Given the description of an element on the screen output the (x, y) to click on. 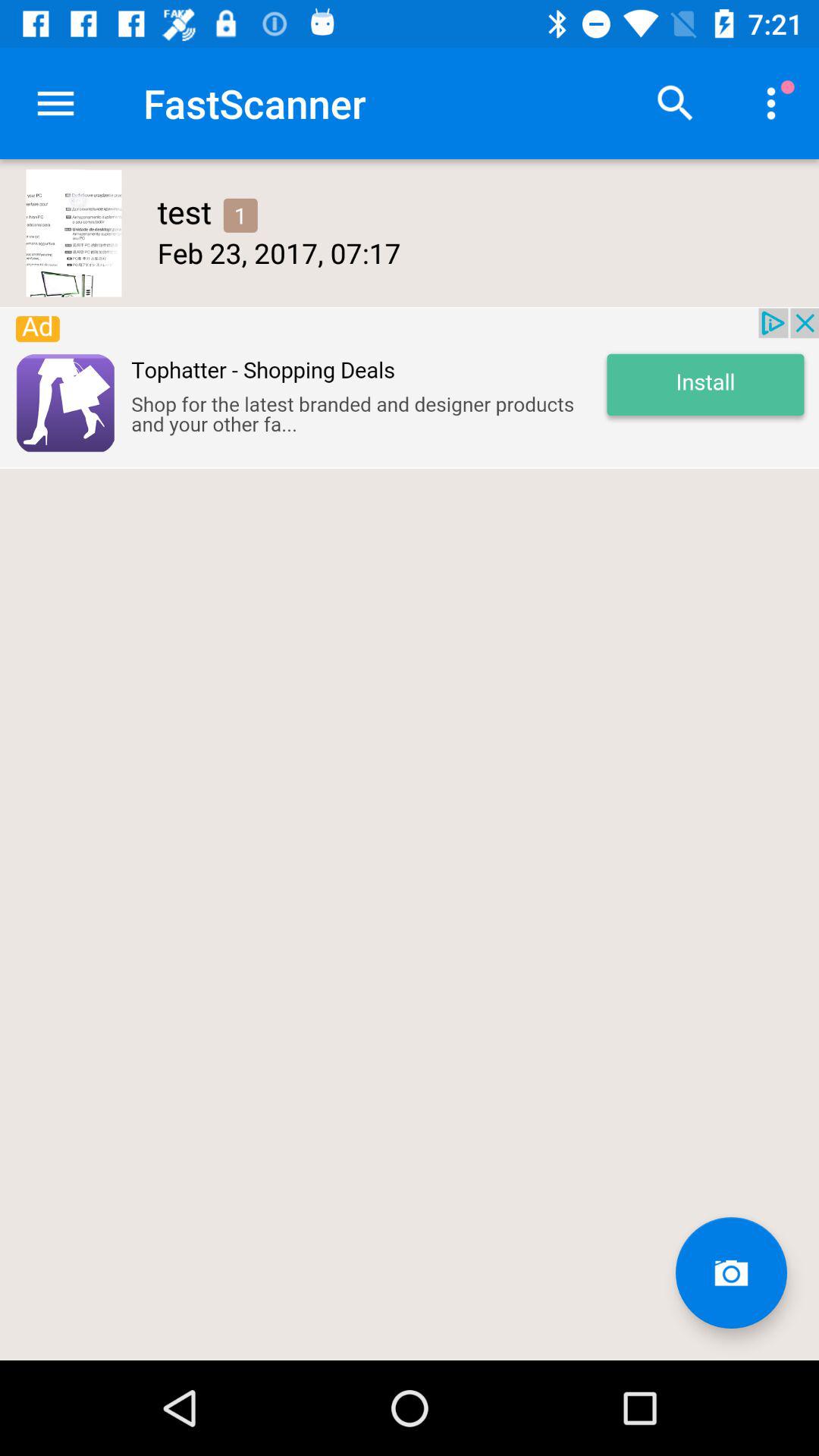
menu button (55, 103)
